Given the description of an element on the screen output the (x, y) to click on. 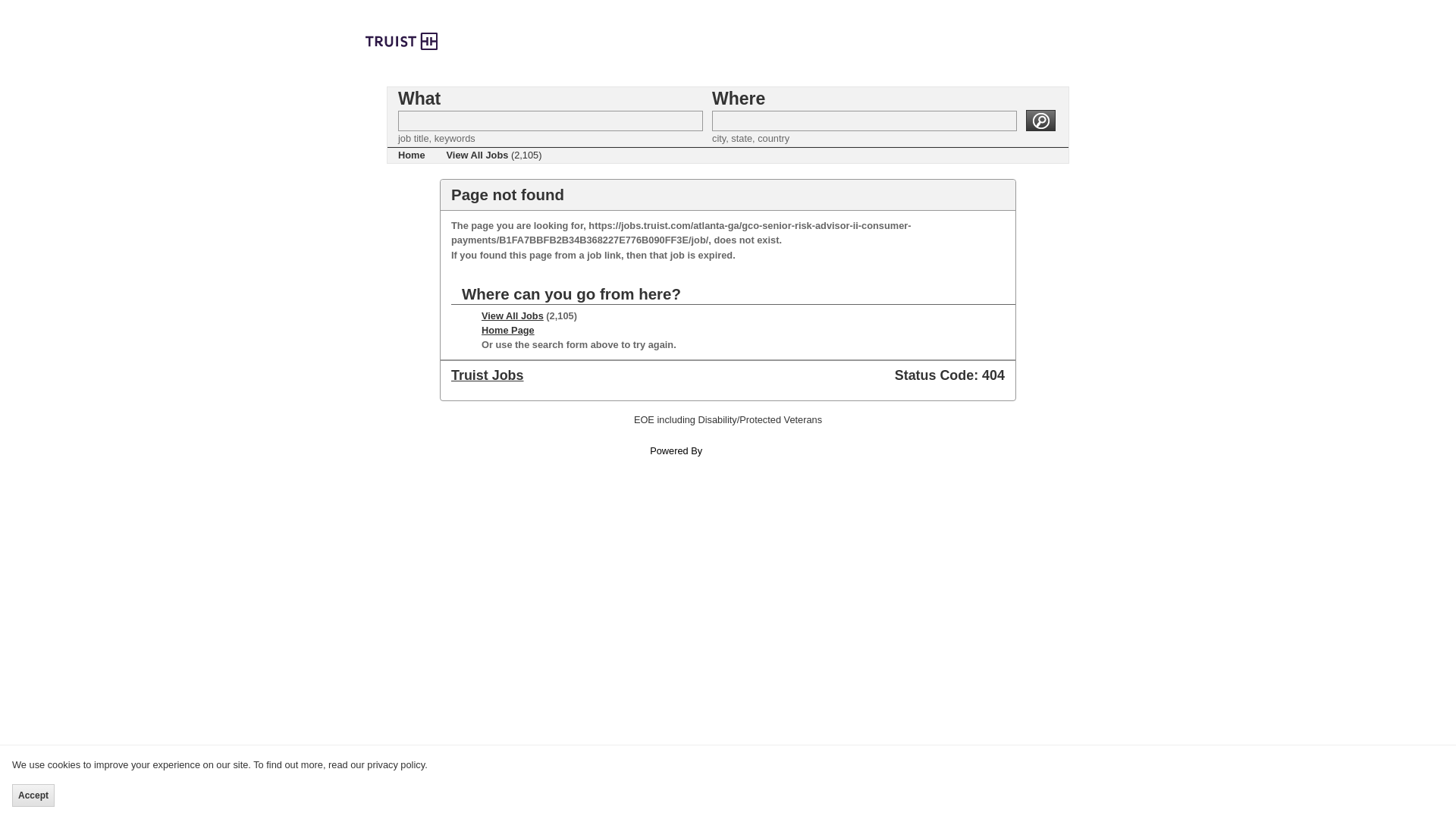
Home Page (507, 329)
Submit Search (1040, 120)
Truist Jobs (487, 375)
Home (411, 155)
Search Phrase (550, 120)
search (1040, 120)
Search Location (863, 120)
search (1040, 120)
View All Jobs (512, 315)
